Given the description of an element on the screen output the (x, y) to click on. 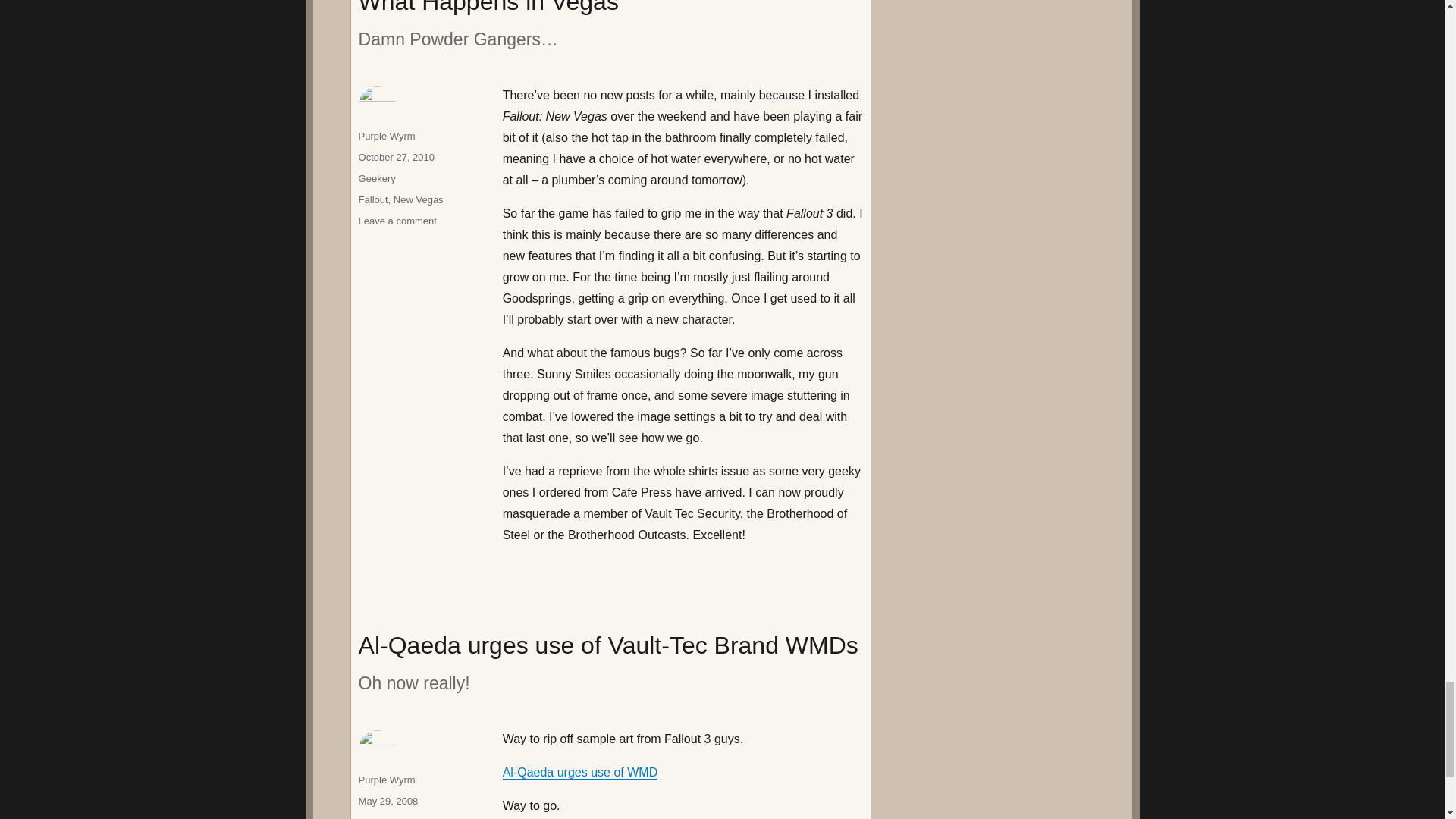
Al-Qaeda urges use of WMD (580, 771)
